Given the description of an element on the screen output the (x, y) to click on. 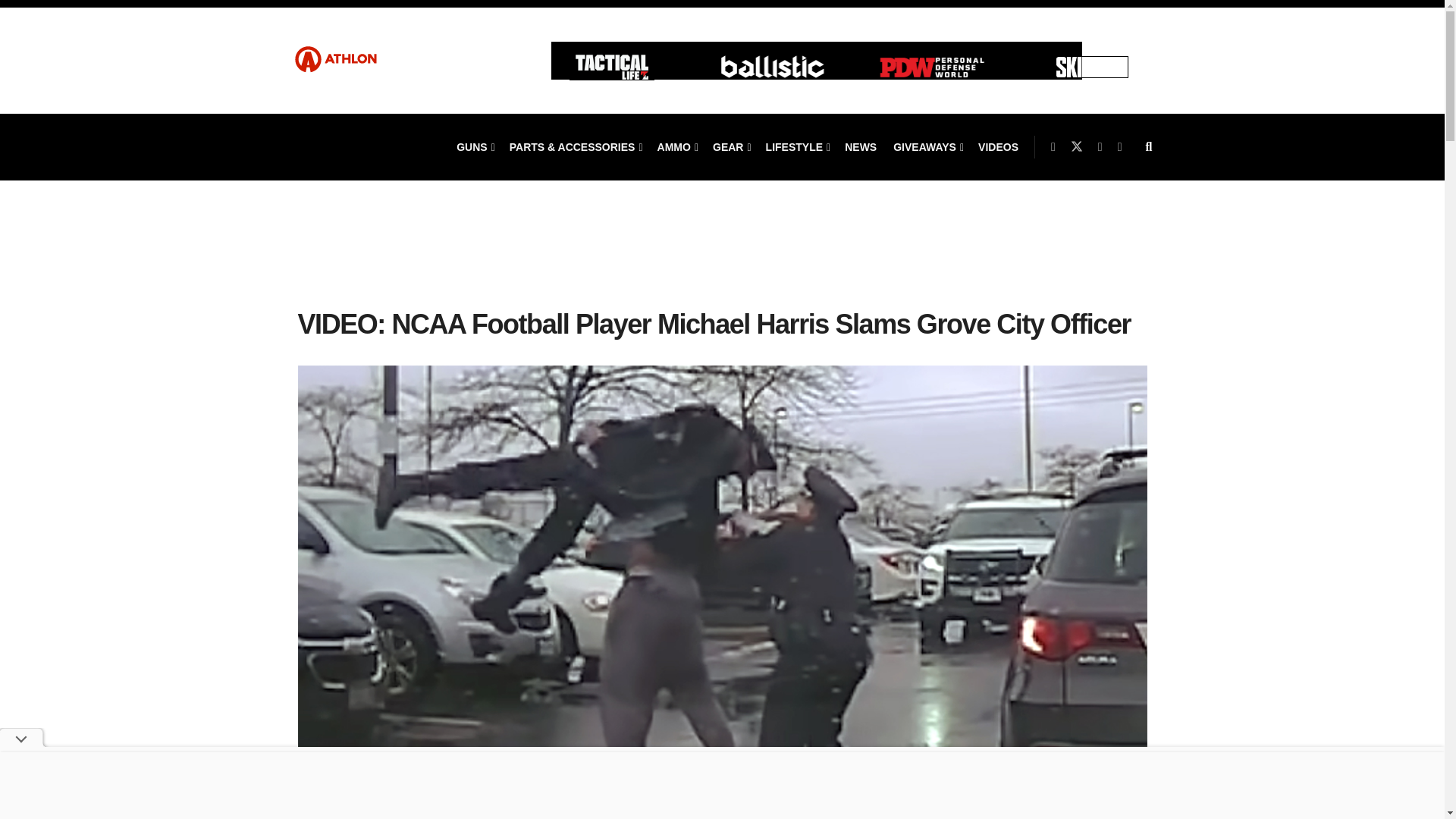
3rd party ad content (722, 260)
